Given the description of an element on the screen output the (x, y) to click on. 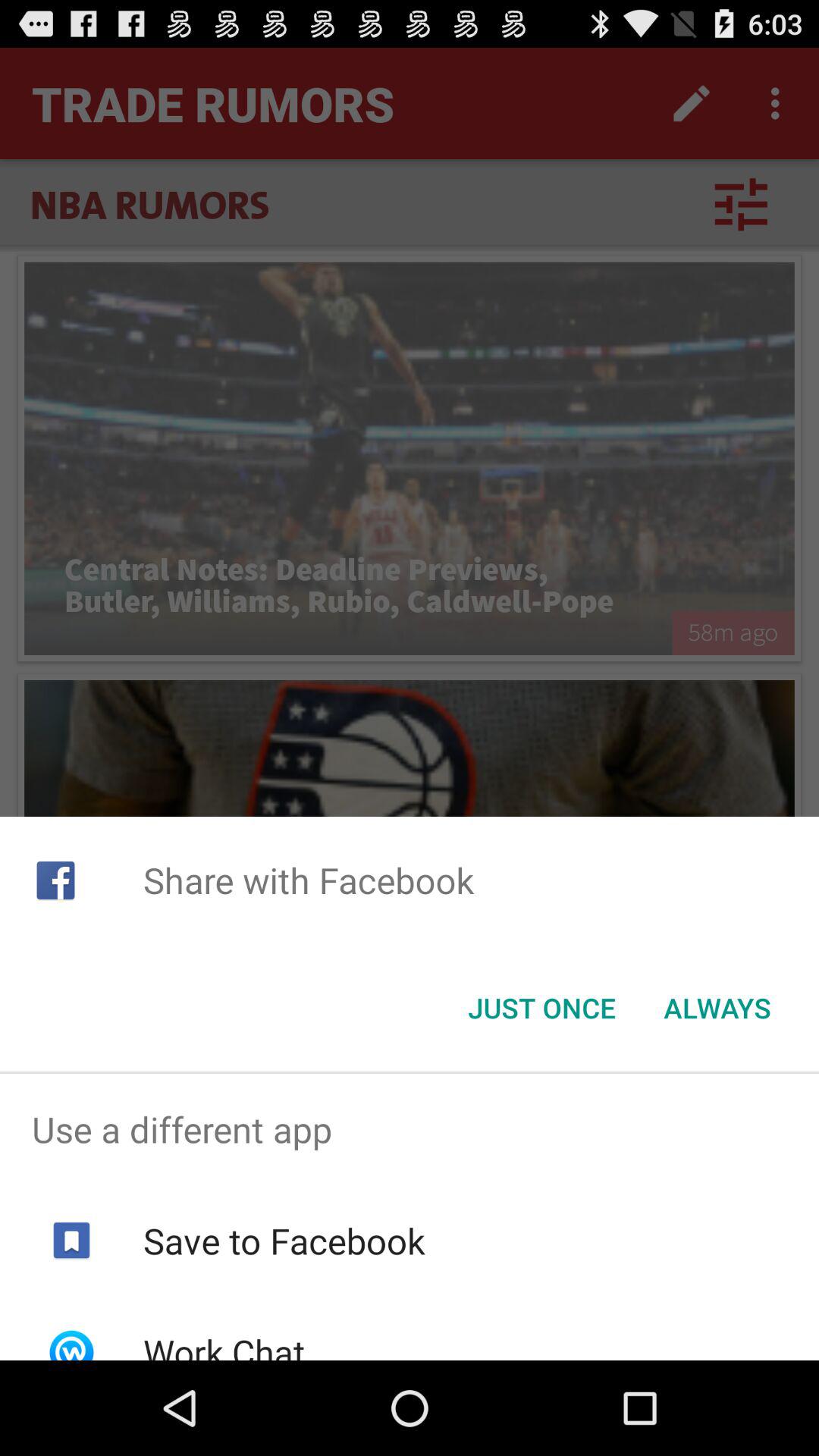
press icon to the left of the always button (541, 1007)
